Given the description of an element on the screen output the (x, y) to click on. 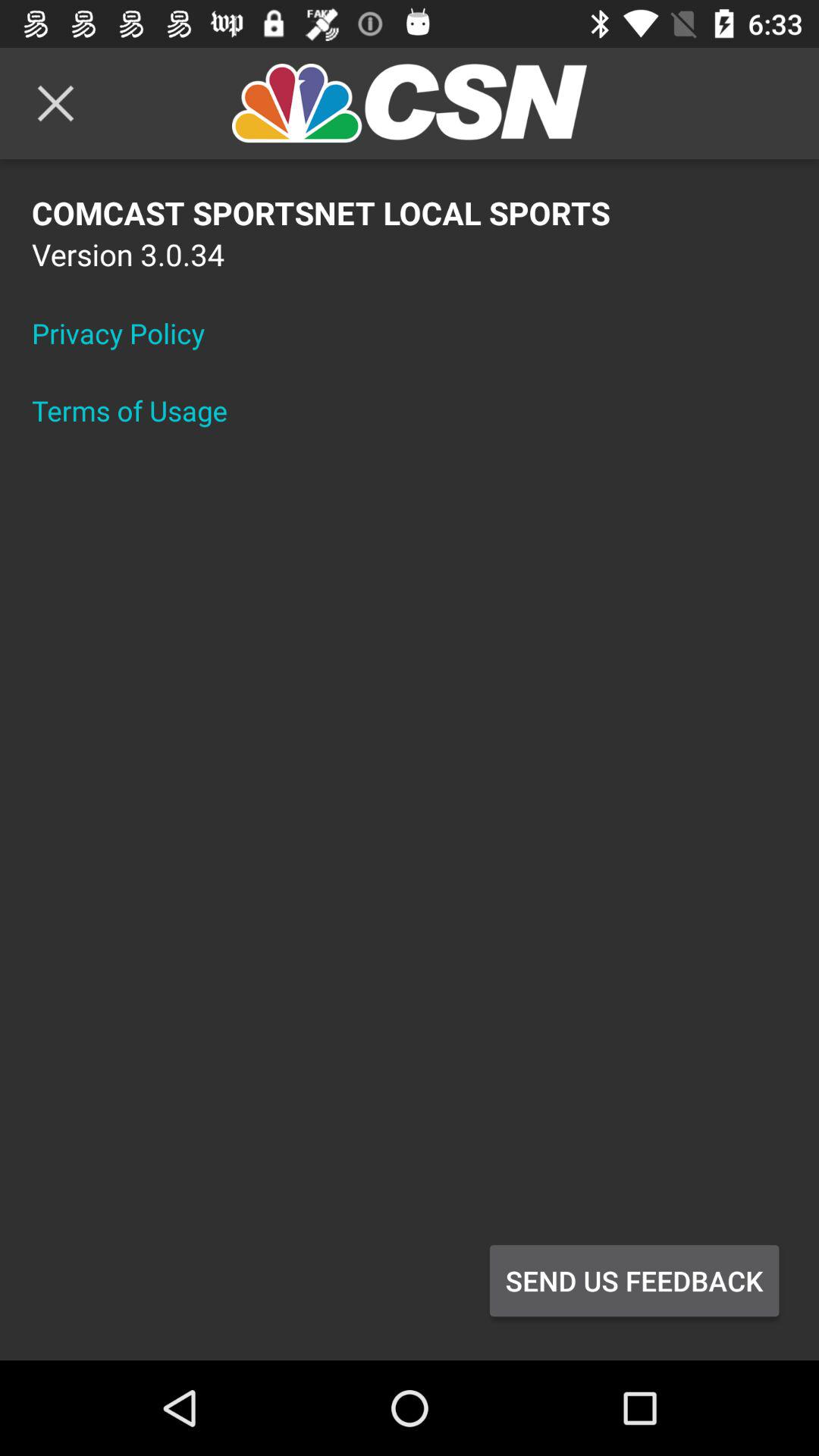
press the send us feedback (634, 1280)
